Given the description of an element on the screen output the (x, y) to click on. 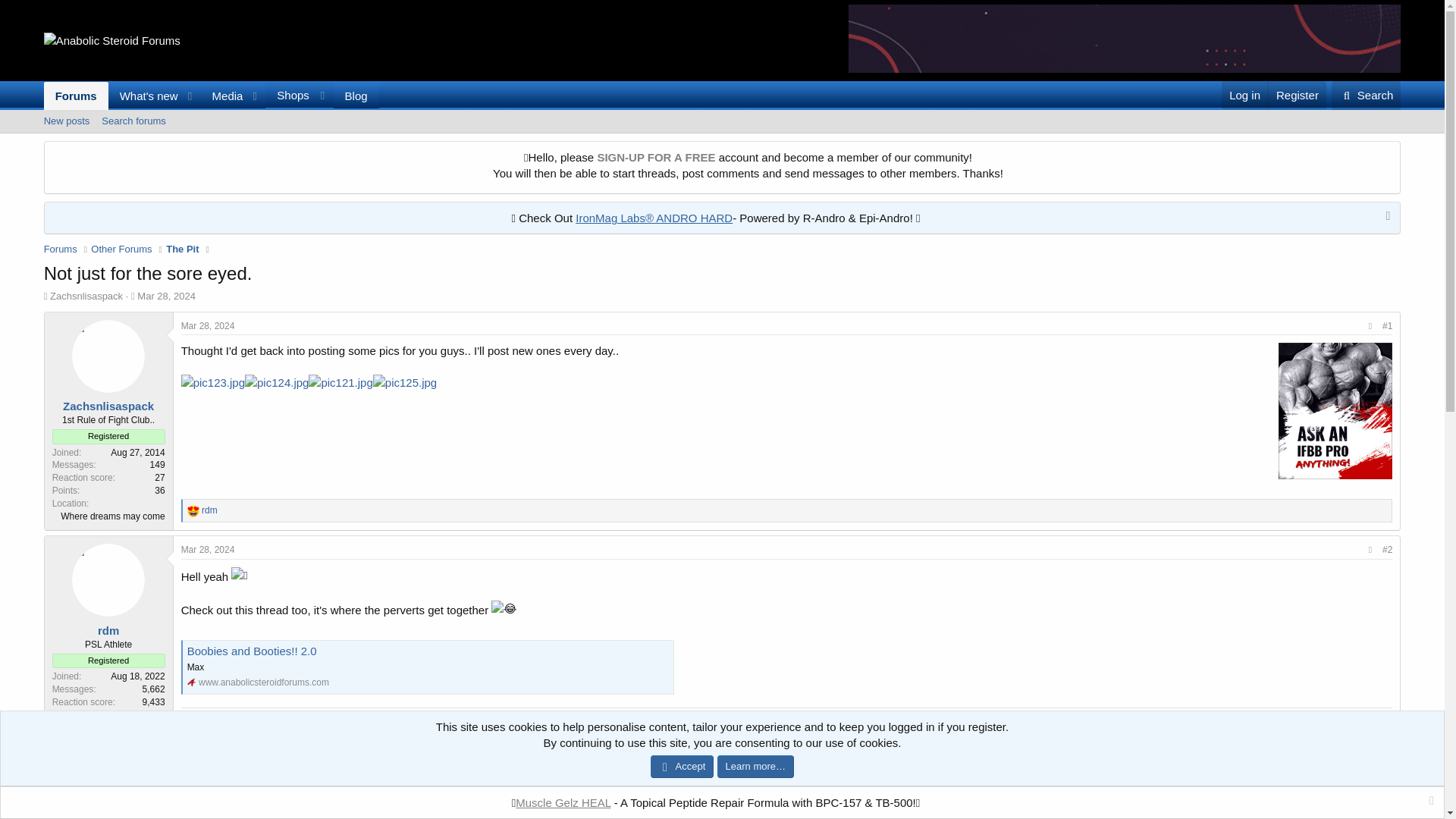
Log in (1244, 94)
pic121.jpg (340, 382)
Forums (75, 95)
pic125.jpg (404, 382)
Mar 28, 2024 at 12:34 PM (207, 326)
Blog (355, 95)
Flexed biceps    :muscle: (188, 716)
What's new (143, 95)
Media (722, 120)
pic124.jpg (222, 95)
Dismiss notice (276, 382)
pic123.jpg (1384, 217)
Search (212, 382)
Flexed biceps    :muscle: (1366, 95)
